Given the description of an element on the screen output the (x, y) to click on. 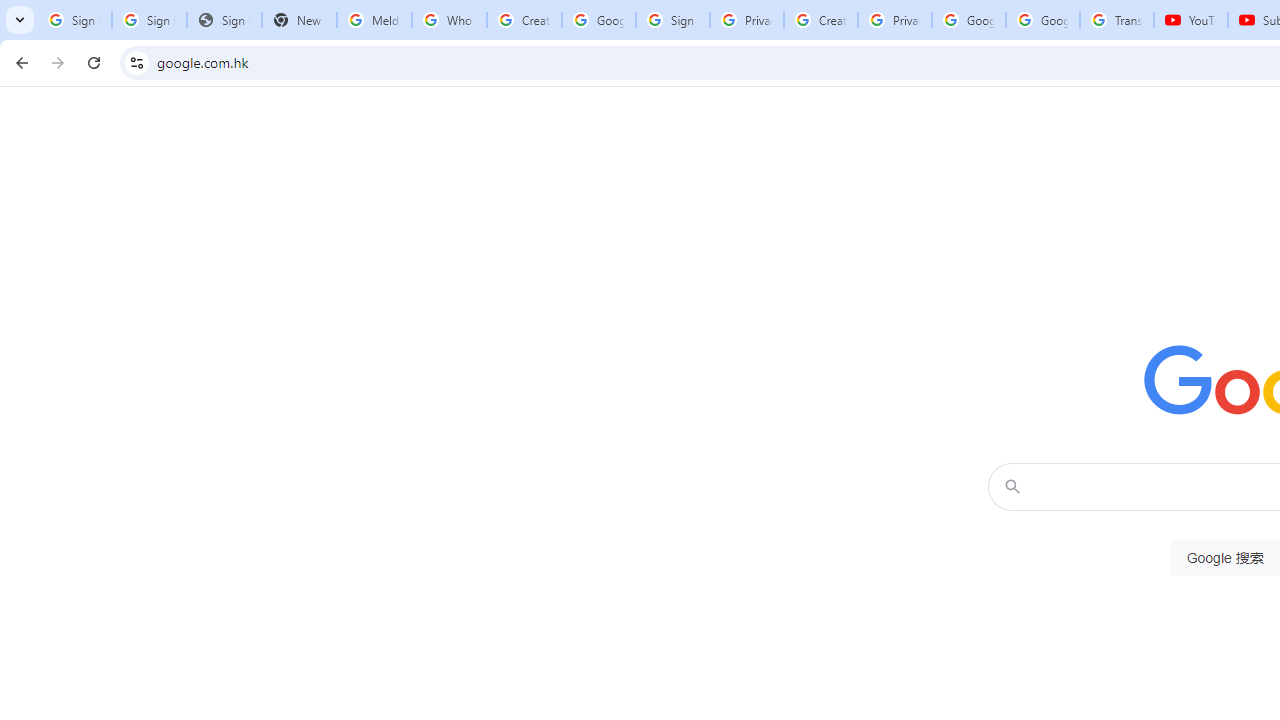
Create your Google Account (523, 20)
Sign in - Google Accounts (673, 20)
New Tab (299, 20)
